Given the description of an element on the screen output the (x, y) to click on. 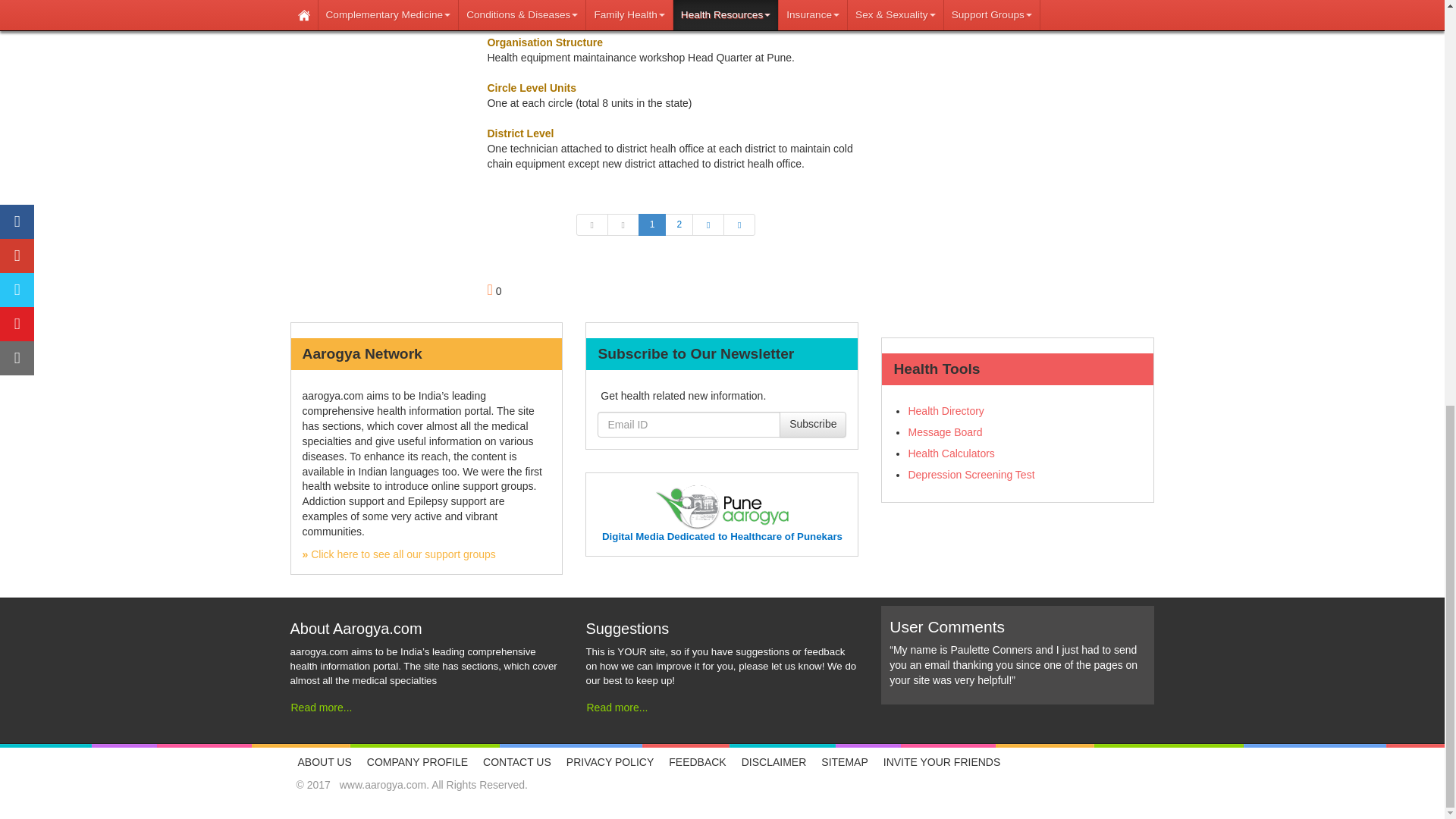
Pune Aarogya (722, 505)
Pune Aarogya (722, 536)
Aarogya Network (398, 553)
End (739, 224)
Advertisement (1017, 57)
2 (679, 224)
Next (708, 224)
